Given the description of an element on the screen output the (x, y) to click on. 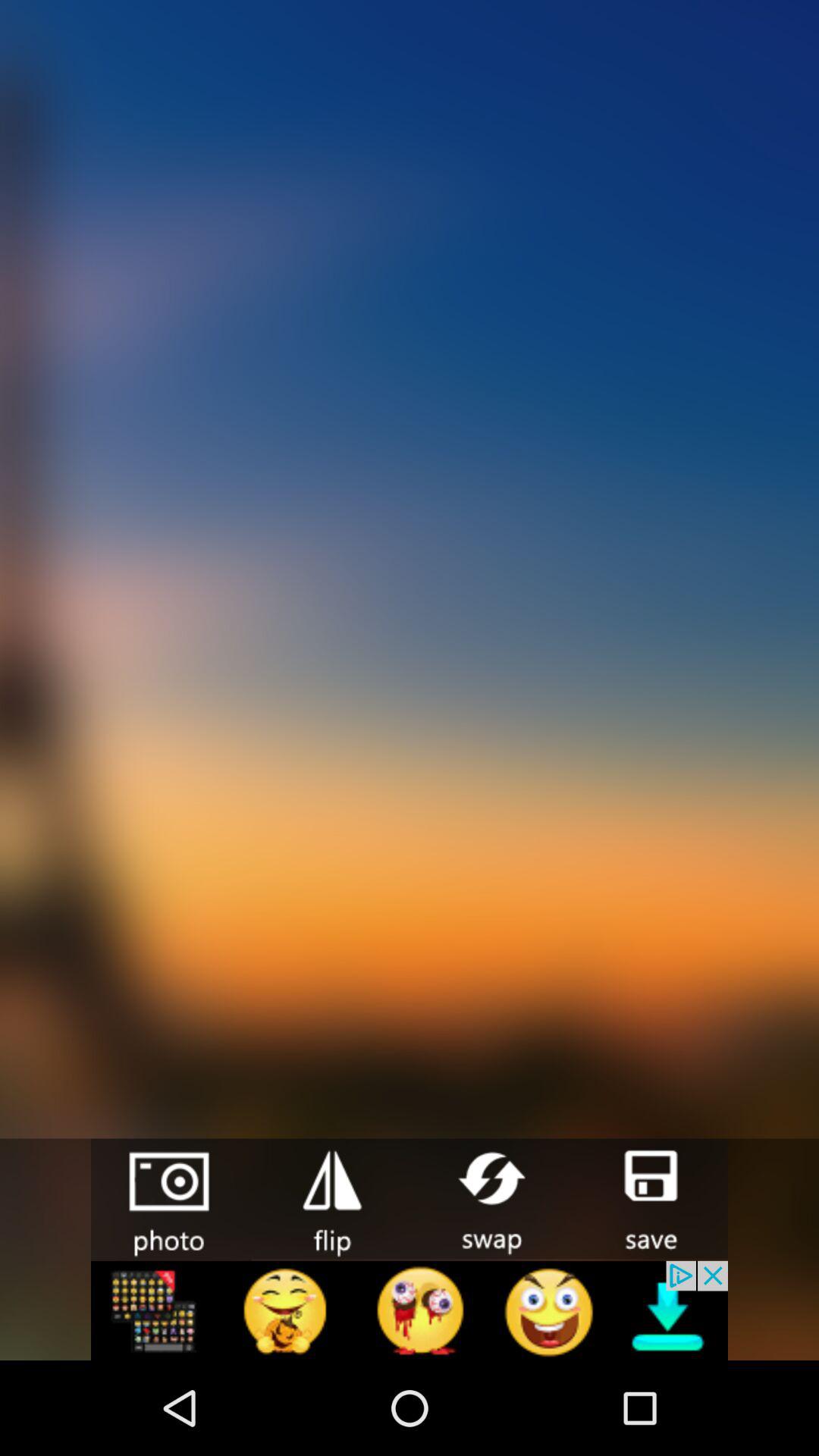
advertisement (409, 1310)
